Given the description of an element on the screen output the (x, y) to click on. 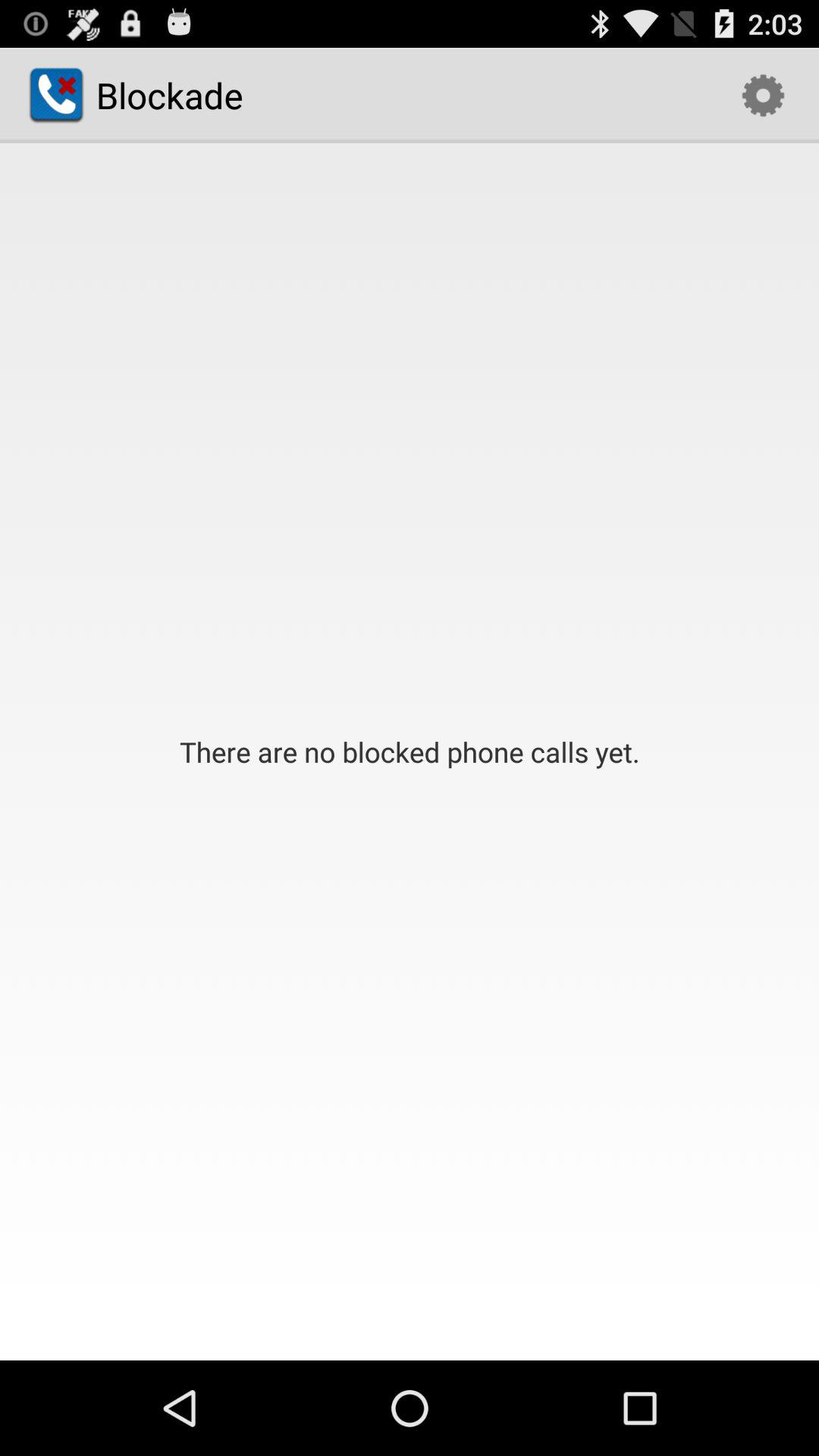
press the item above the there are no app (763, 95)
